Given the description of an element on the screen output the (x, y) to click on. 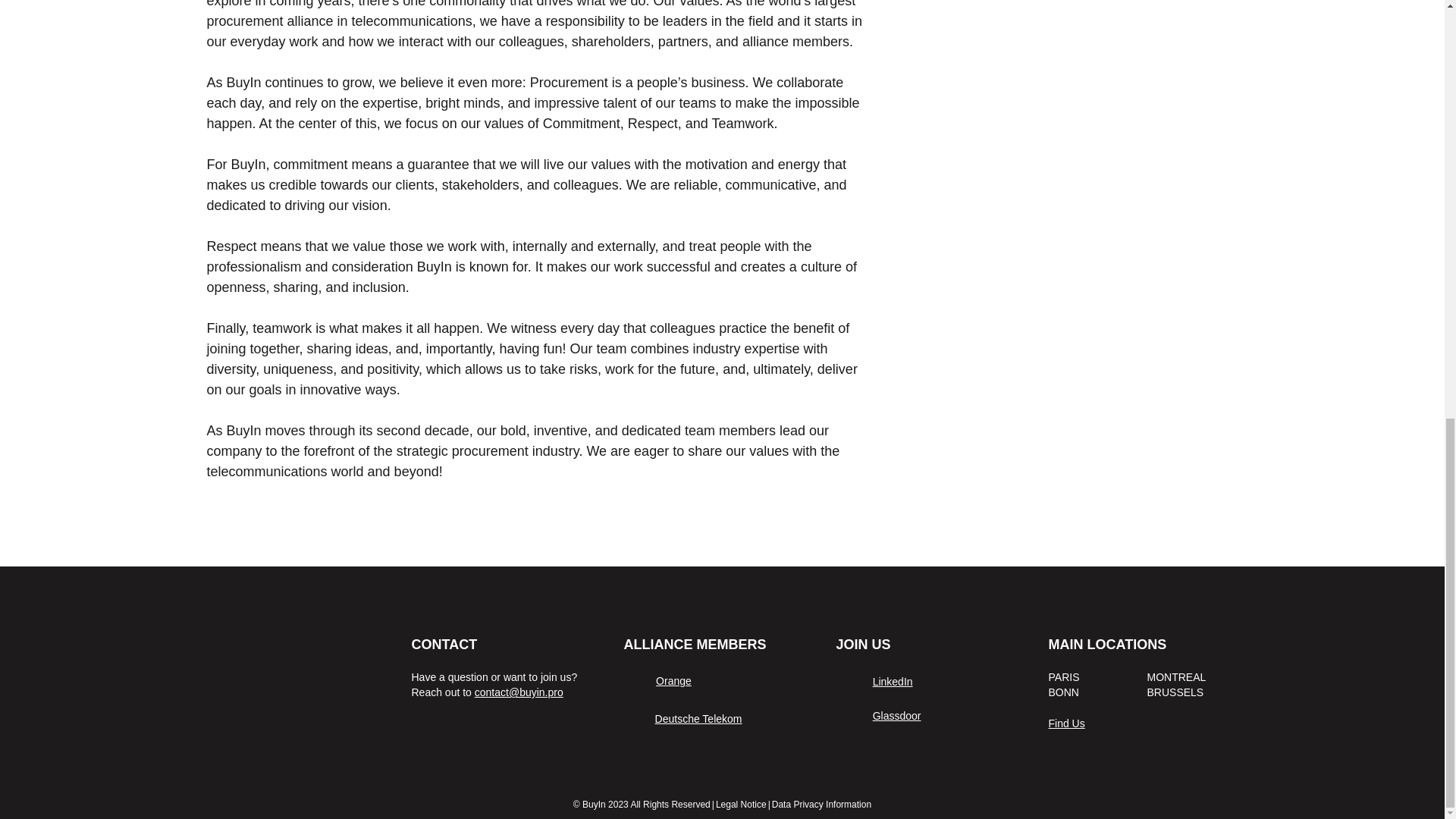
Data Privacy Information (820, 804)
Glassdoor (896, 715)
Legal Notice (741, 804)
Orange (673, 680)
Find Us (1066, 723)
Deutsche Telekom (698, 718)
LinkedIn (892, 681)
